Given the description of an element on the screen output the (x, y) to click on. 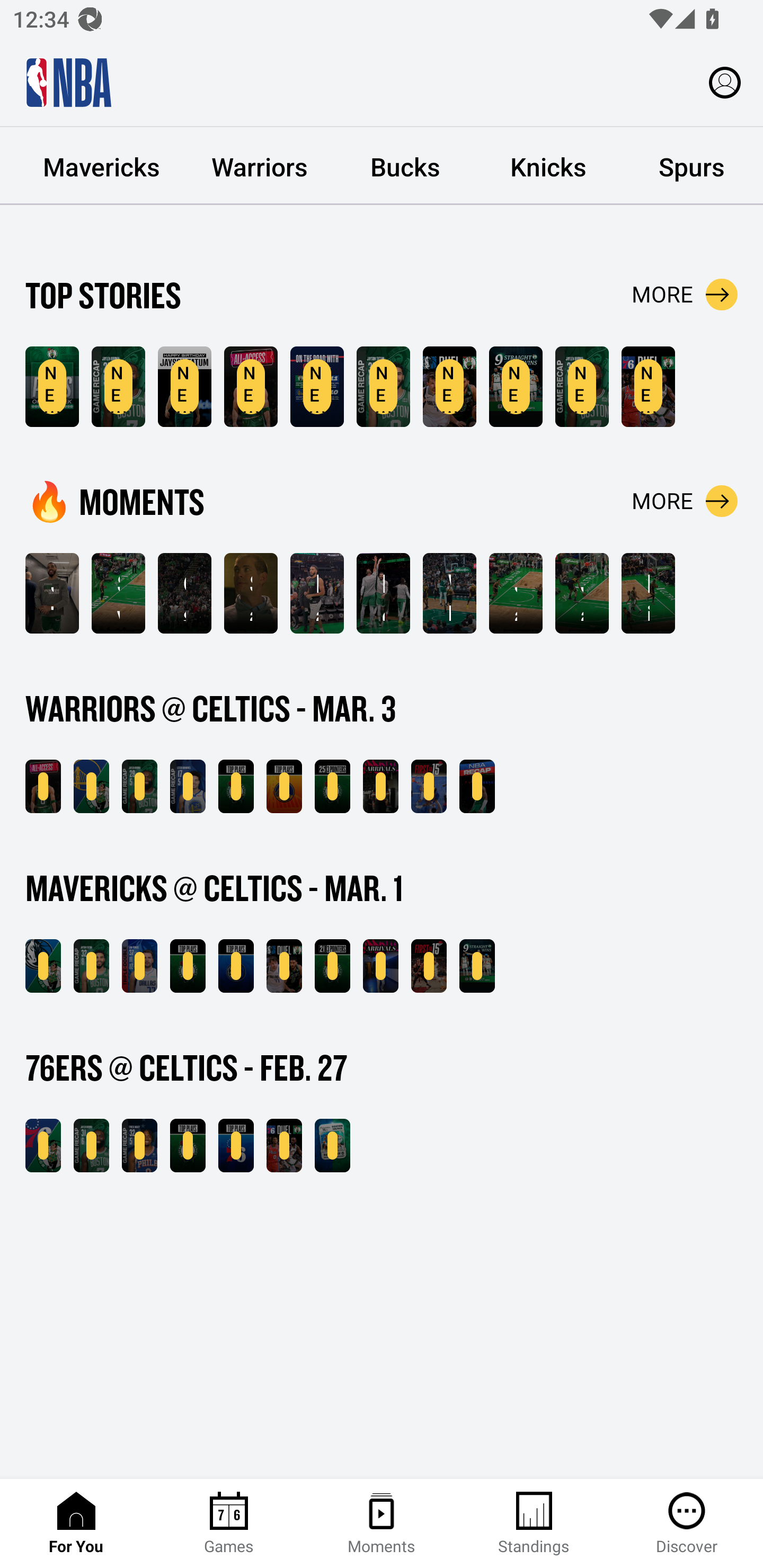
Profile (724, 81)
Mavericks (101, 166)
Warriors (260, 166)
Bucks (405, 166)
Knicks (547, 166)
Spurs (691, 166)
MORE (684, 294)
NEW BOS' Top Plays of Week 19 (51, 386)
NEW Highlights From Jaylen Brown's 29-Point Game (117, 386)
NEW Happy Birthday Jayson Tatum! 🎉 (184, 386)
NEW Warriors And Celtics Clash At TD Garden 🍀 (250, 386)
NEW On The Road With Hotels.com (317, 386)
Highlights From Jayson Tatum's 32-Point Game NEW (383, 386)
Luka & Tatum Go Toe-To-Toe NEW (449, 386)
Highlights From Jaylen Brown's 31-Point Game NEW (581, 386)
Maxey & Brown Show Out In Faceoff NEW (648, 386)
MORE (684, 500)
JT Sounds Off On The Birthday Win 🥳 (51, 593)
Svi Mykhailiuk from deep! (117, 593)
Oshae Brissett throws it down (184, 593)
Sam Hauser hits from way downtown (250, 593)
Happy 26th Birthday To Jayson Tatum! 🍀 (317, 593)
Deuce's Dad 💚 (383, 593)
White Finds JB On The Backdoor Cut For The Jam 💥 (449, 593)
Jaylen Brown with the feed (515, 593)
Jaylen Brown with the slam (581, 593)
Nice dish from Jayson Tatum (648, 593)
NEW Warriors And Celtics Clash At TD Garden 🍀 (43, 785)
NEW BOS 140, GSW 88 - Mar 3 (91, 785)
NEW Highlights From Jaylen Brown's 29-Point Game (139, 785)
NEW Highlights From Lester Quinones' 17-Point Game (187, 785)
NEW BOS' Top Plays from GSW vs. BOS (236, 785)
GSW's Top Plays from GSW vs. BOS NEW (284, 785)
All 3-pointers from BOS' 25 3-pointer Night NEW (332, 785)
Steppin' Into Sunday 🔥 NEW (380, 785)
First To 15, Mar. 3rd NEW (428, 785)
Sunday's Recap NEW (477, 785)
NEW BOS 138, DAL 110 - Mar 1 (43, 965)
NEW Highlights From Jayson Tatum's 32-Point Game (91, 965)
NEW Highlights from Luka Doncic's Triple-Double (139, 965)
NEW BOS' Top Plays from DAL vs. BOS (187, 965)
NEW DAL's Top Plays from DAL vs. BOS (236, 965)
Luka & Tatum Go Toe-To-Toe NEW (284, 965)
All 3's from BOS' 21 3-Pointer Night NEW (332, 965)
Which Fit From Friday Would You Rock? 🤔 NEW (380, 965)
First To 15: Mar. 1st NEW (428, 965)
NEW BOS 117, PHI 99 - Feb 27 (43, 1145)
NEW Highlights From Jaylen Brown's 31-Point Game (91, 1145)
NEW Highlights From Tyrese Maxey's 32-Point Game (139, 1145)
NEW BOS's Top Plays from PHI vs. BOS (187, 1145)
NEW PHI's Top Plays from PHI vs. BOS (236, 1145)
Maxey & Brown Show Out In Faceoff NEW (284, 1145)
Eastern Conference Clash: 76ers Vs. Celtics ⚔️ NEW (332, 1145)
Games (228, 1523)
Moments (381, 1523)
Standings (533, 1523)
Discover (686, 1523)
